Given the description of an element on the screen output the (x, y) to click on. 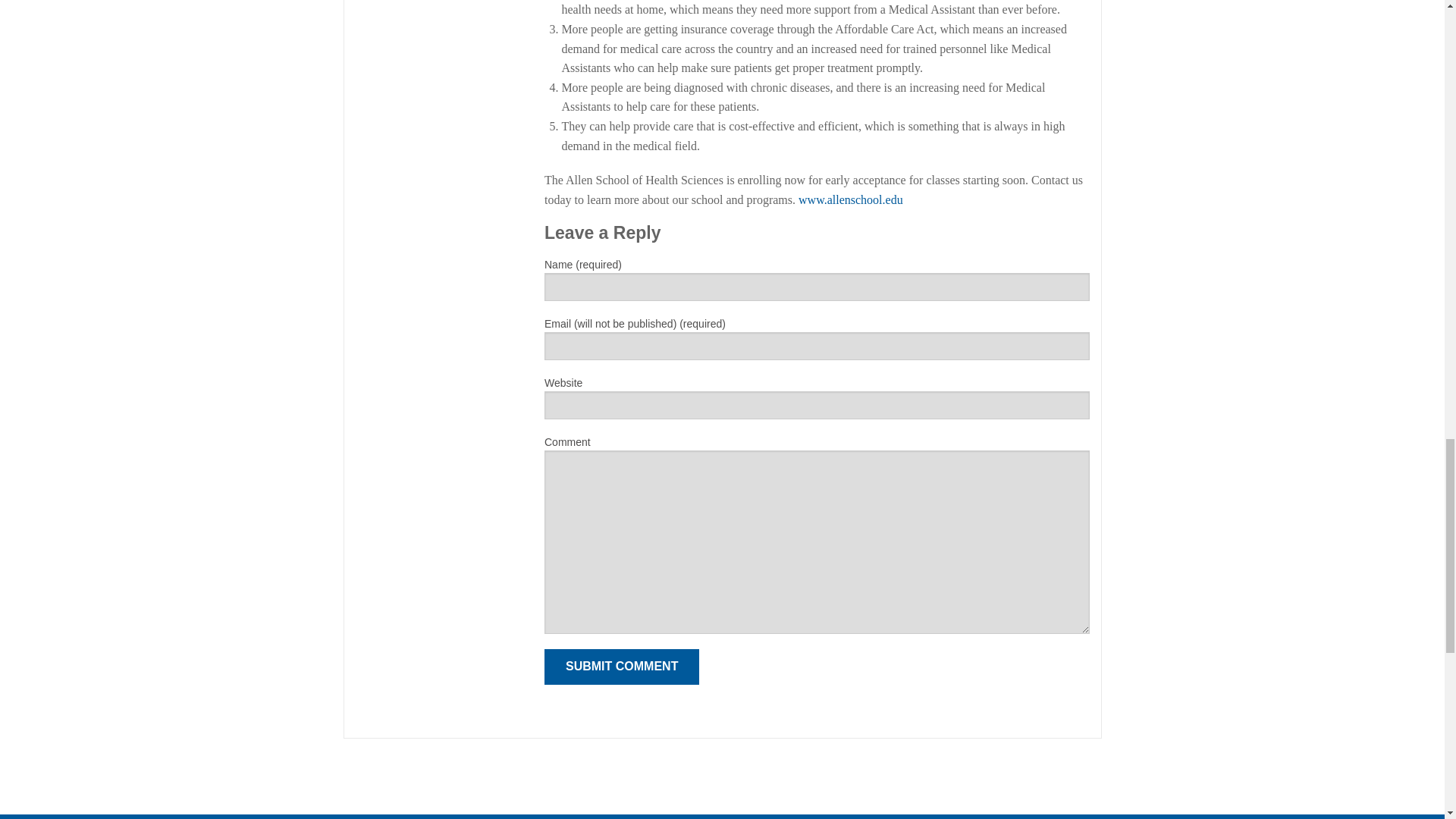
Submit Comment (621, 666)
